Given the description of an element on the screen output the (x, y) to click on. 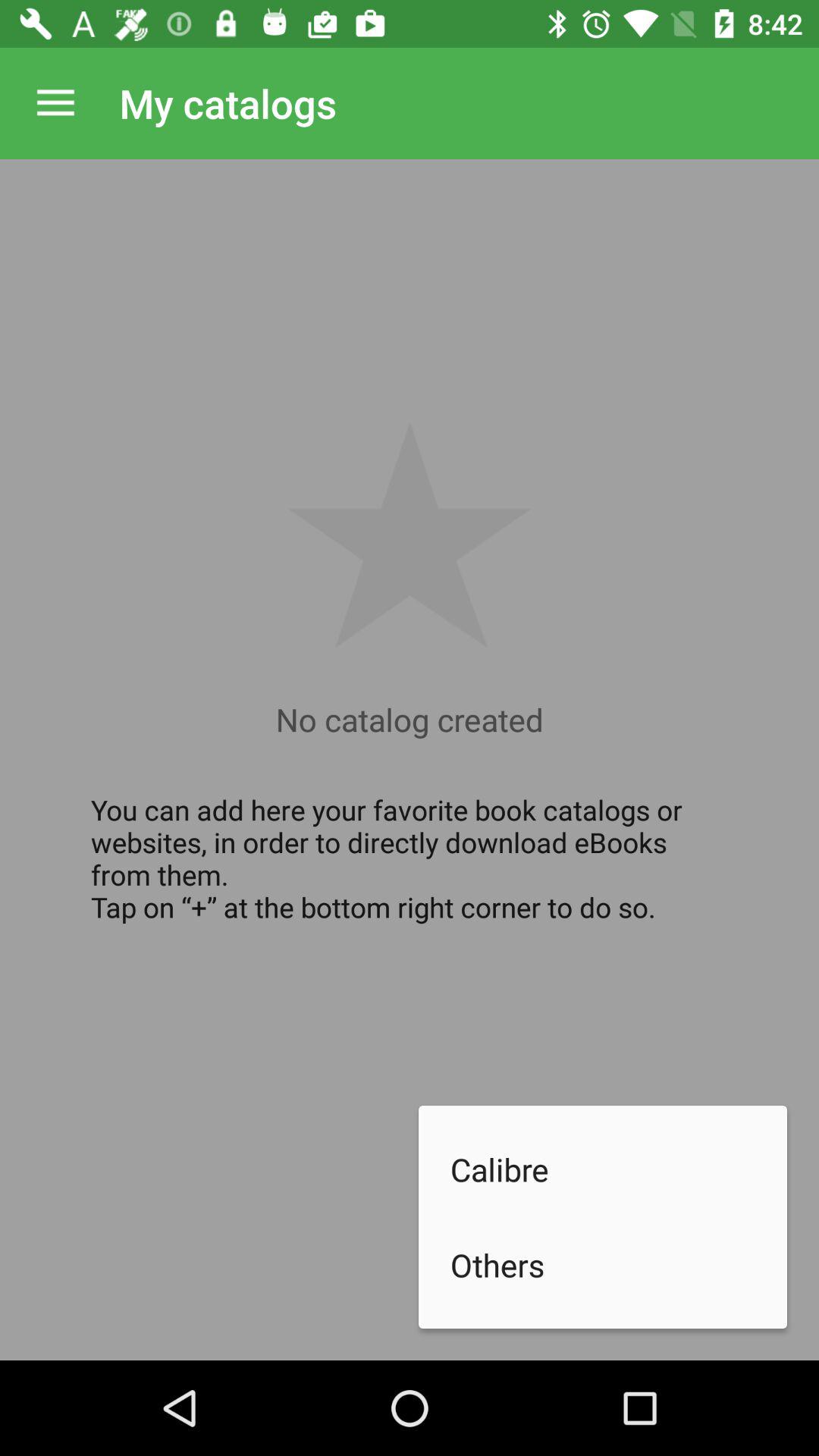
turn on icon below you can add (618, 1169)
